Given the description of an element on the screen output the (x, y) to click on. 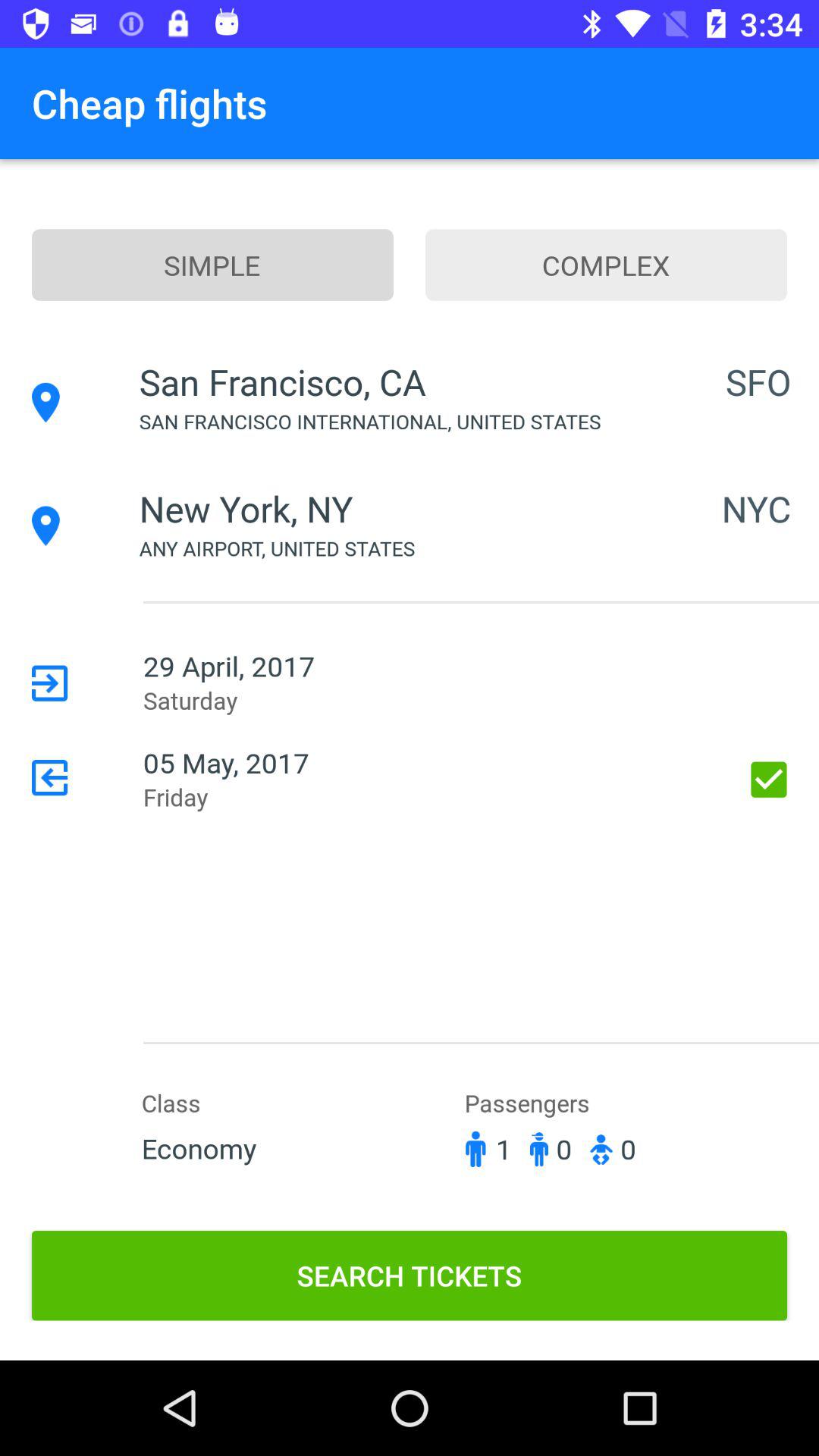
swipe to simple (212, 264)
